Given the description of an element on the screen output the (x, y) to click on. 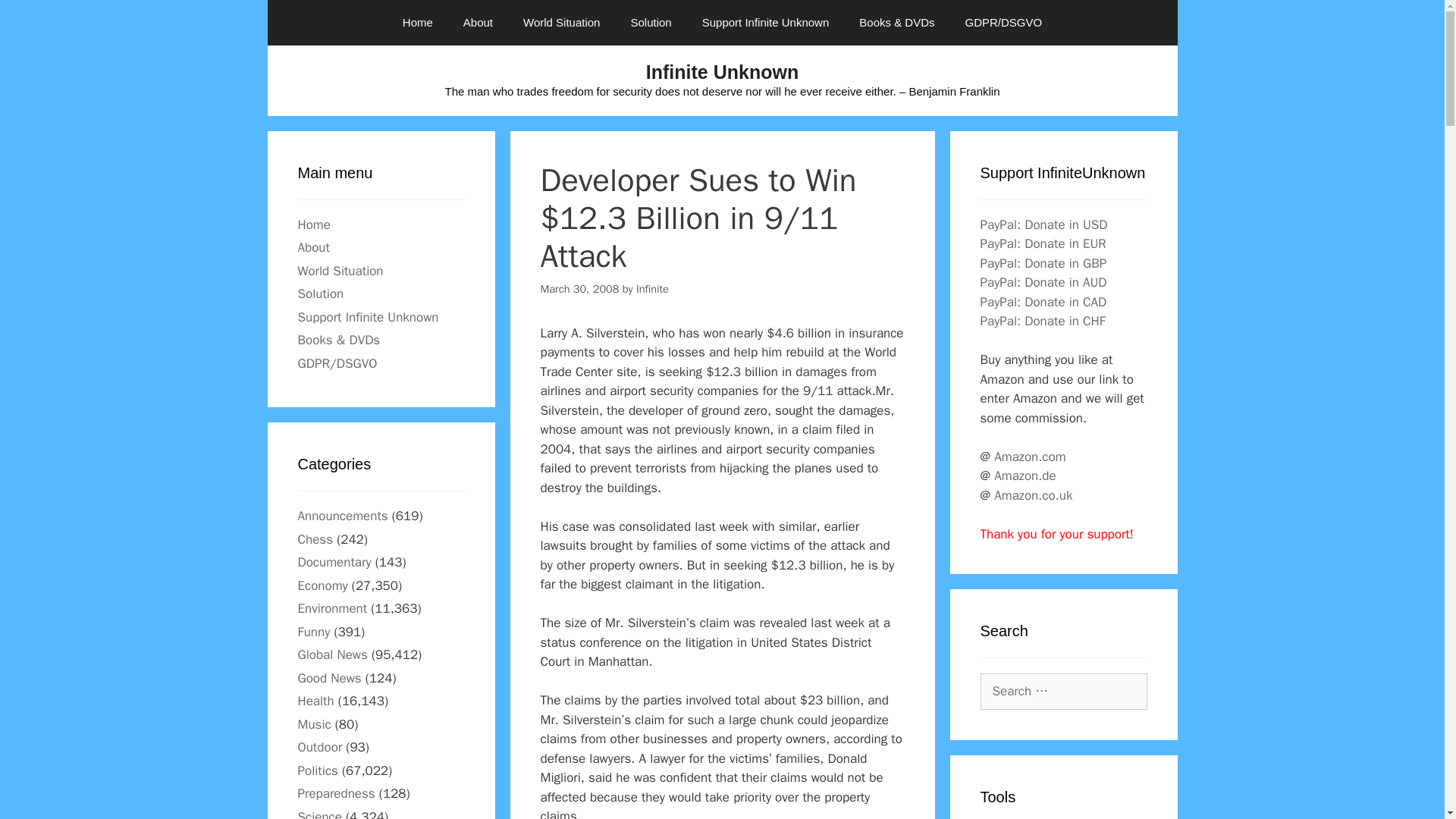
About (478, 22)
View all posts by Infinite (652, 288)
World Situation (339, 270)
Global News (331, 654)
Infinite (652, 288)
Funny (313, 631)
Good News (329, 678)
About (313, 247)
Documentary (334, 562)
Home (417, 22)
World Situation (561, 22)
Announcements (342, 515)
Environment (331, 608)
Search for: (1063, 691)
Solution (320, 293)
